Given the description of an element on the screen output the (x, y) to click on. 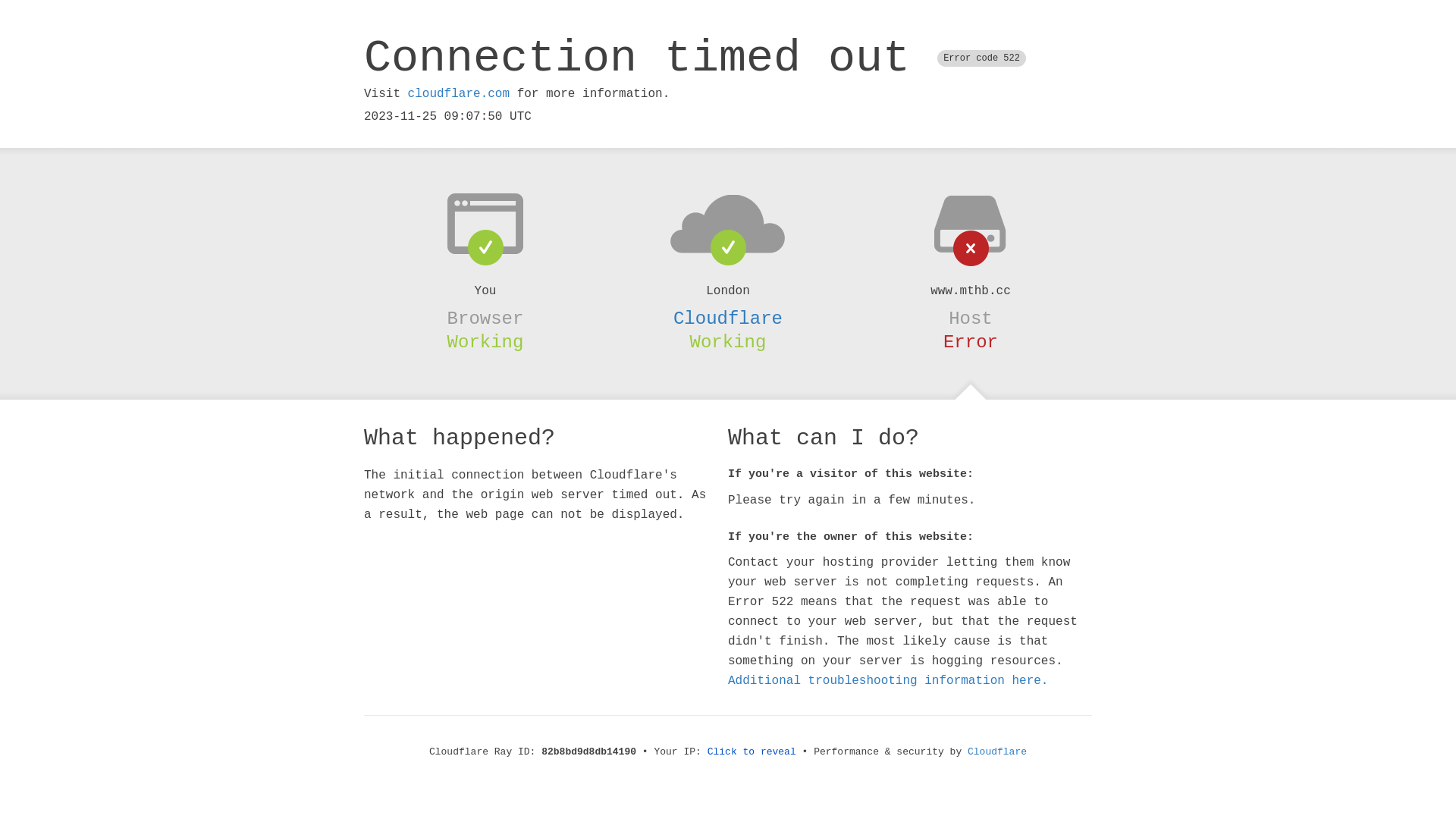
Click to reveal Element type: text (751, 751)
Cloudflare Element type: text (727, 318)
Cloudflare Element type: text (996, 751)
cloudflare.com Element type: text (458, 93)
Additional troubleshooting information here. Element type: text (888, 680)
